Given the description of an element on the screen output the (x, y) to click on. 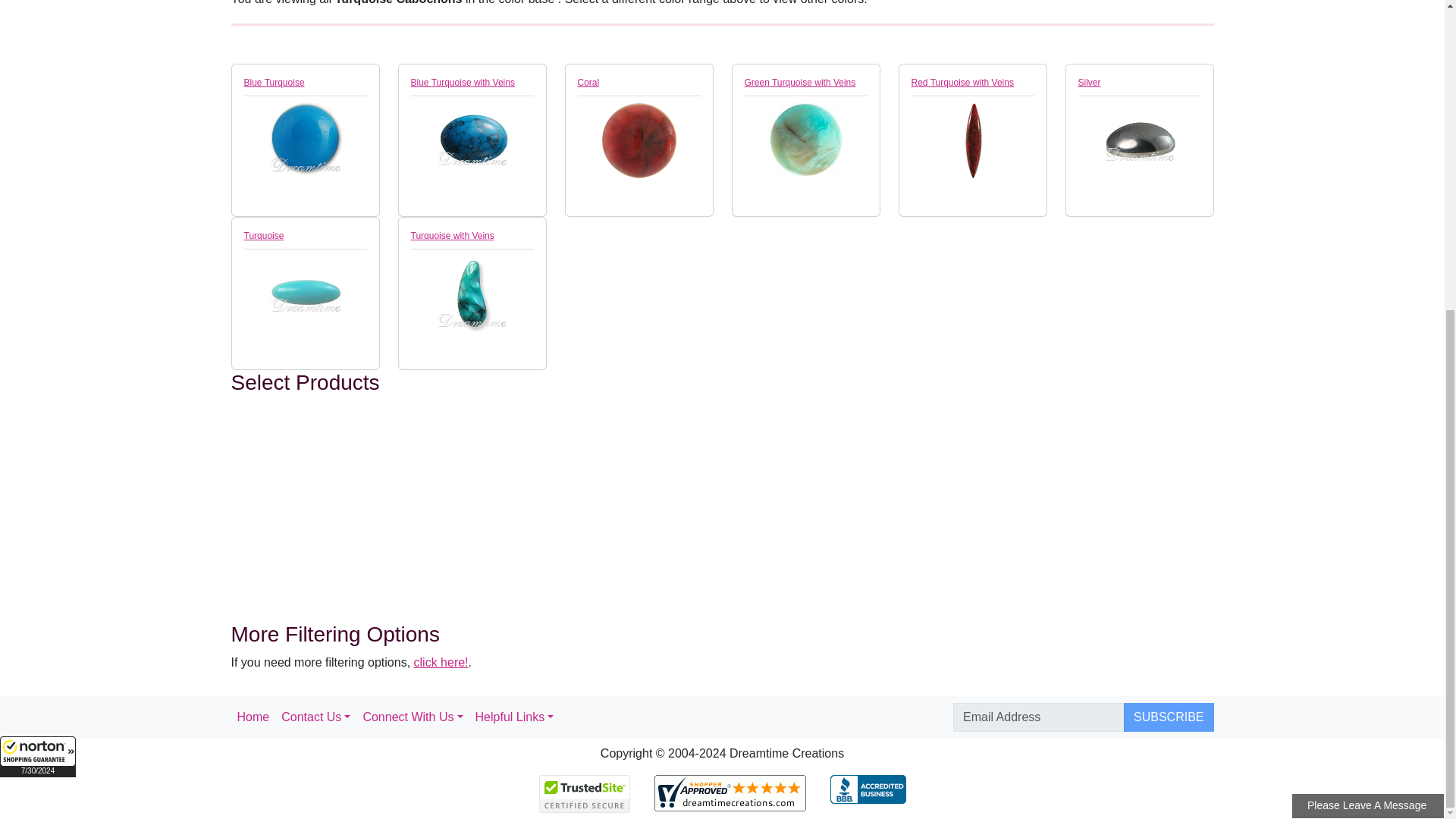
Blue Turquoise (305, 140)
Blue Turquoise with Veins (472, 140)
Green Turquoise with Veins (805, 140)
Coral (639, 140)
Unused iFrame 1 (37, 264)
Red Turquoise with Veins (972, 140)
Silver (1139, 140)
